Given the description of an element on the screen output the (x, y) to click on. 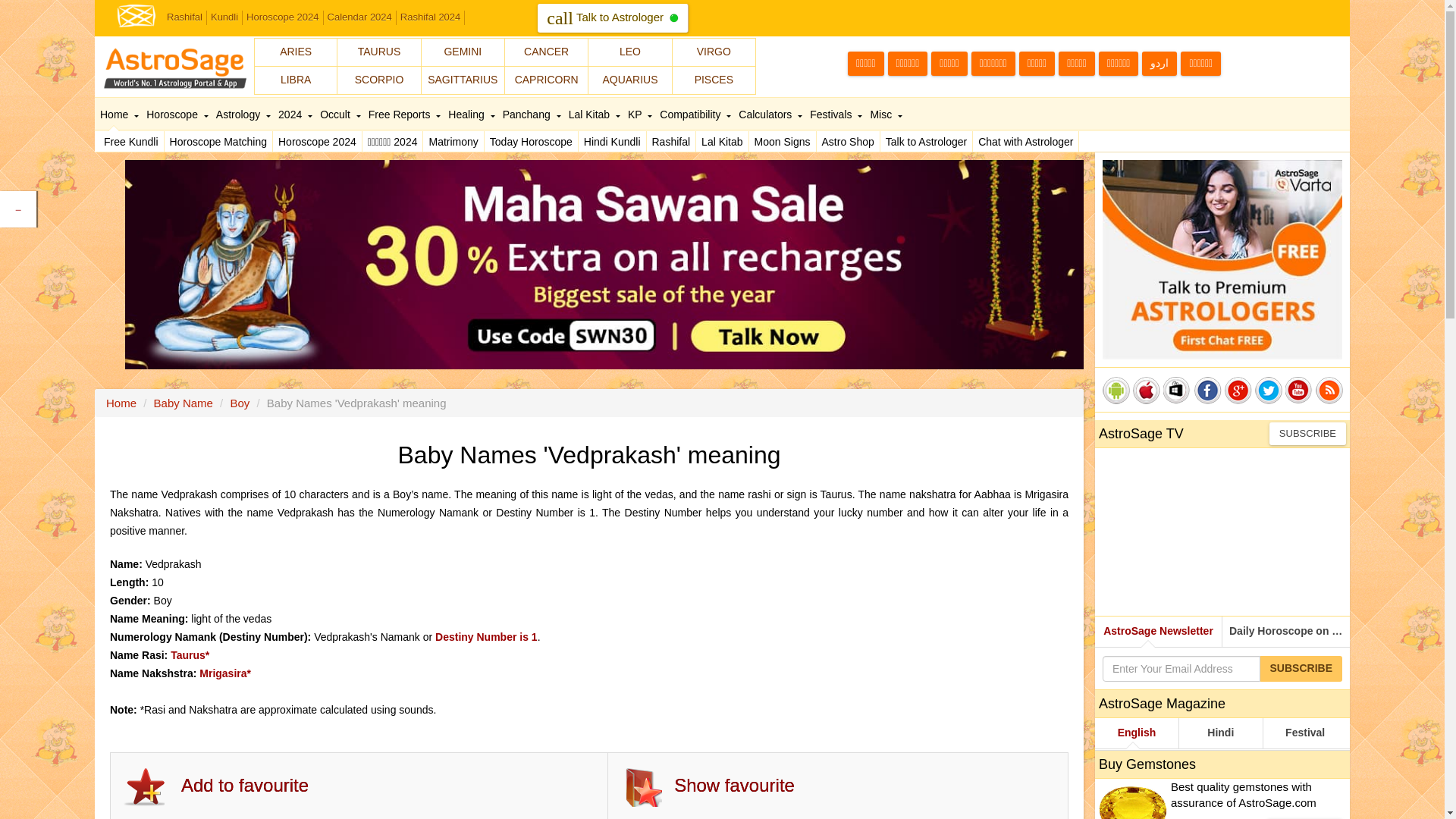
CANCER (546, 52)
Hindi Kundli (612, 18)
Horoscope 2024 (612, 141)
Home (317, 141)
SAGITTARIUS (117, 114)
www.AstroSage.com: Vedic Astrology (462, 80)
Add to favourite (136, 14)
PISCES (244, 785)
Telugu (713, 80)
Horoscope 2024 (908, 63)
Kannada (283, 17)
Matrimony (949, 63)
Rashifal 2024 (453, 141)
Kundli (430, 17)
